Given the description of an element on the screen output the (x, y) to click on. 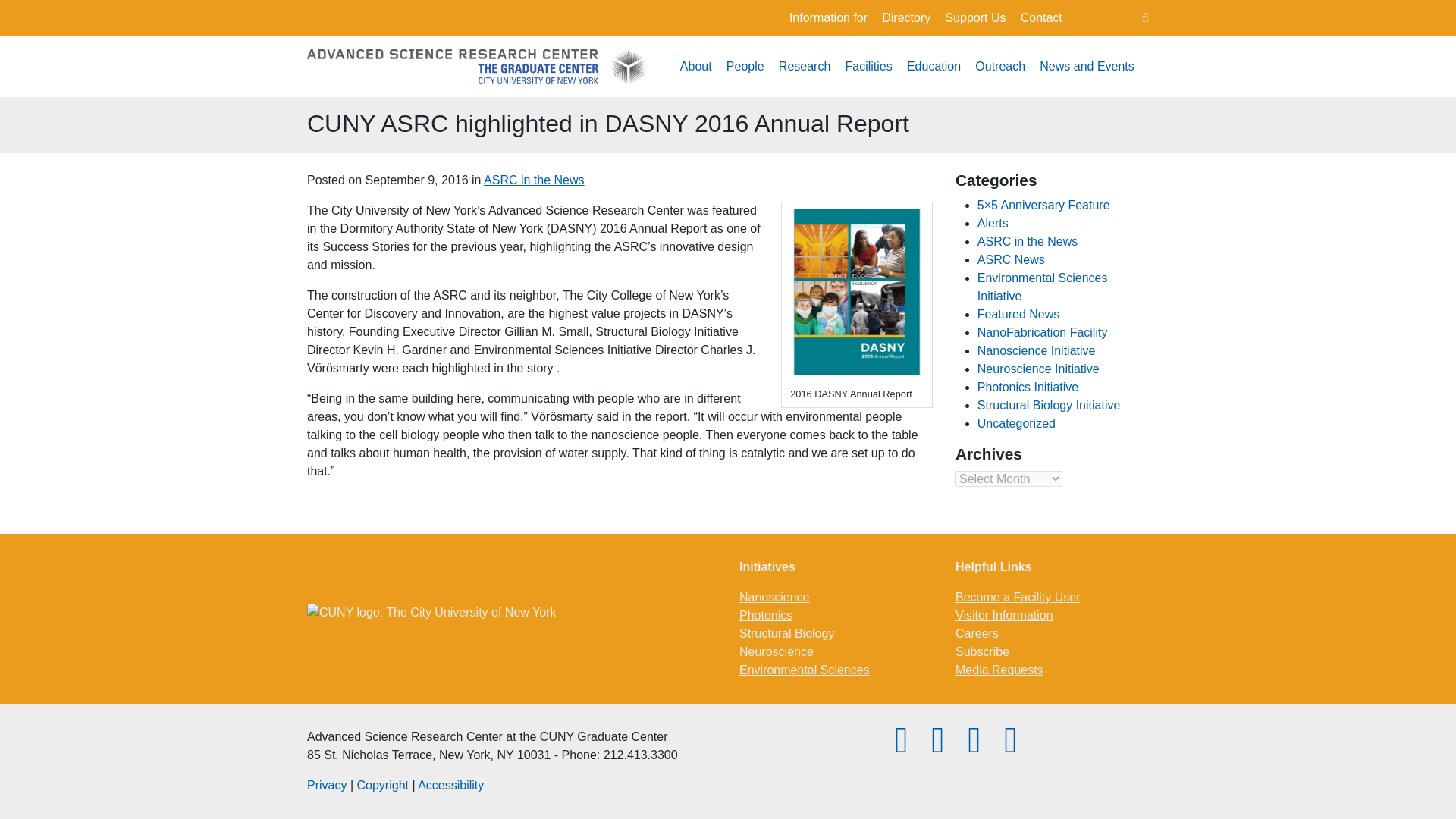
About (695, 66)
Facilities (867, 66)
Research (803, 66)
Information for (828, 18)
Contact (1041, 18)
Information for (828, 18)
People (745, 66)
Skip to content (727, 14)
Contact (1041, 18)
Support Us (975, 18)
Directory (906, 18)
People (745, 66)
Directory (906, 18)
Support Us (975, 18)
About (695, 66)
